Given the description of an element on the screen output the (x, y) to click on. 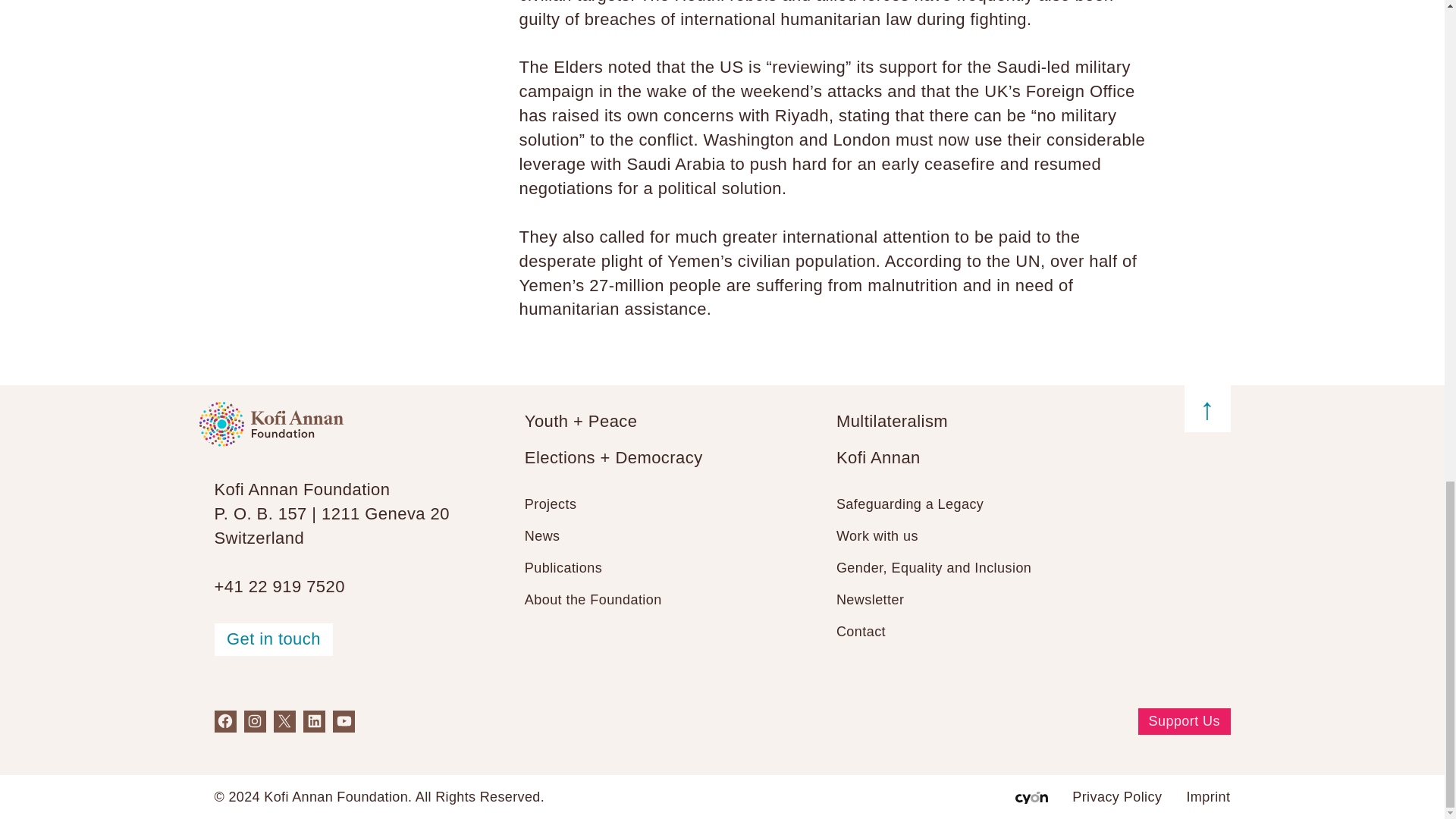
Swiss hosting by cyon.ch (1031, 797)
